Given the description of an element on the screen output the (x, y) to click on. 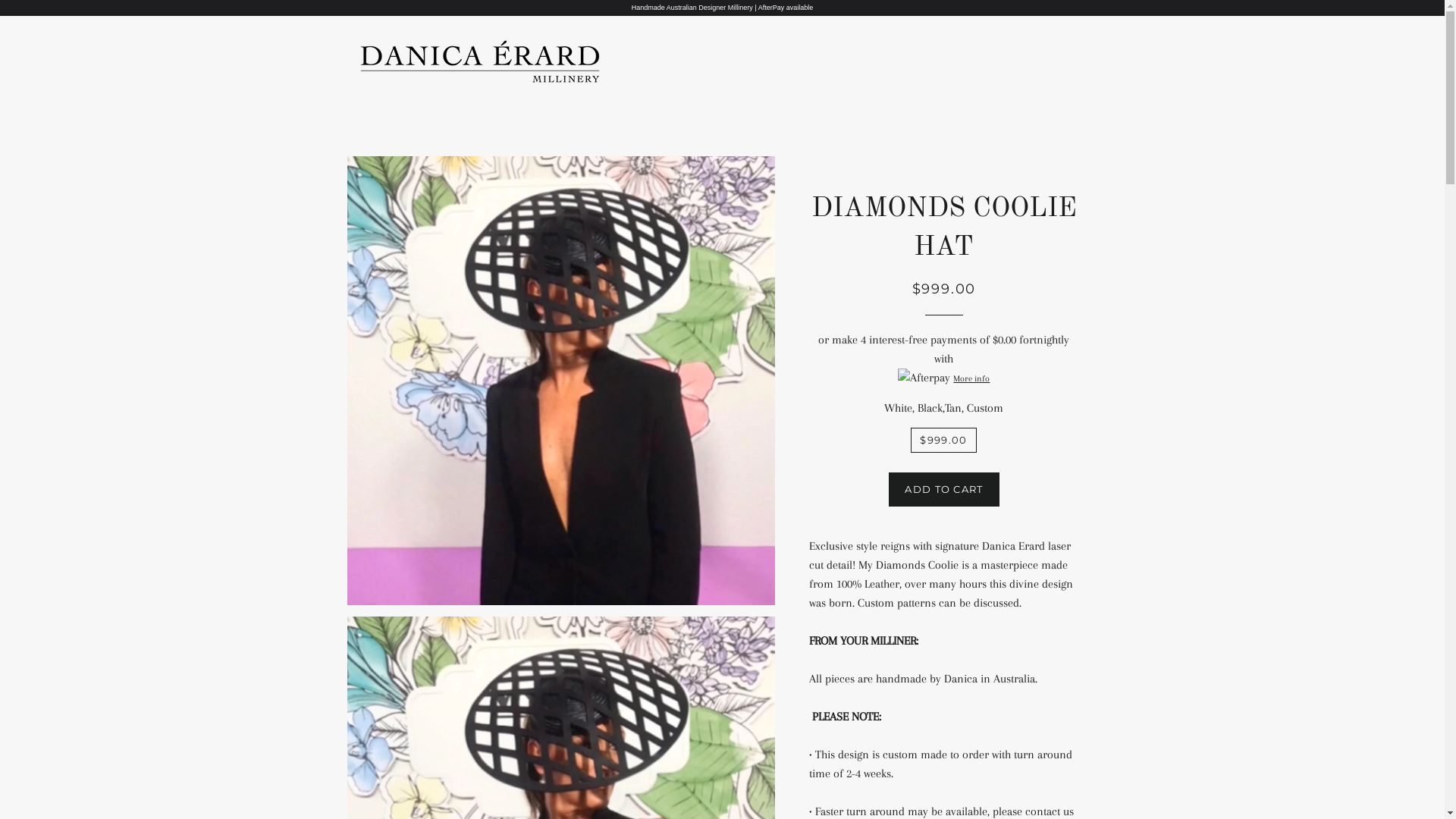
Handmade Australian Designer Millinery | AfterPay available Element type: text (722, 7)
More info Element type: text (943, 377)
ADD TO CART Element type: text (943, 488)
